Given the description of an element on the screen output the (x, y) to click on. 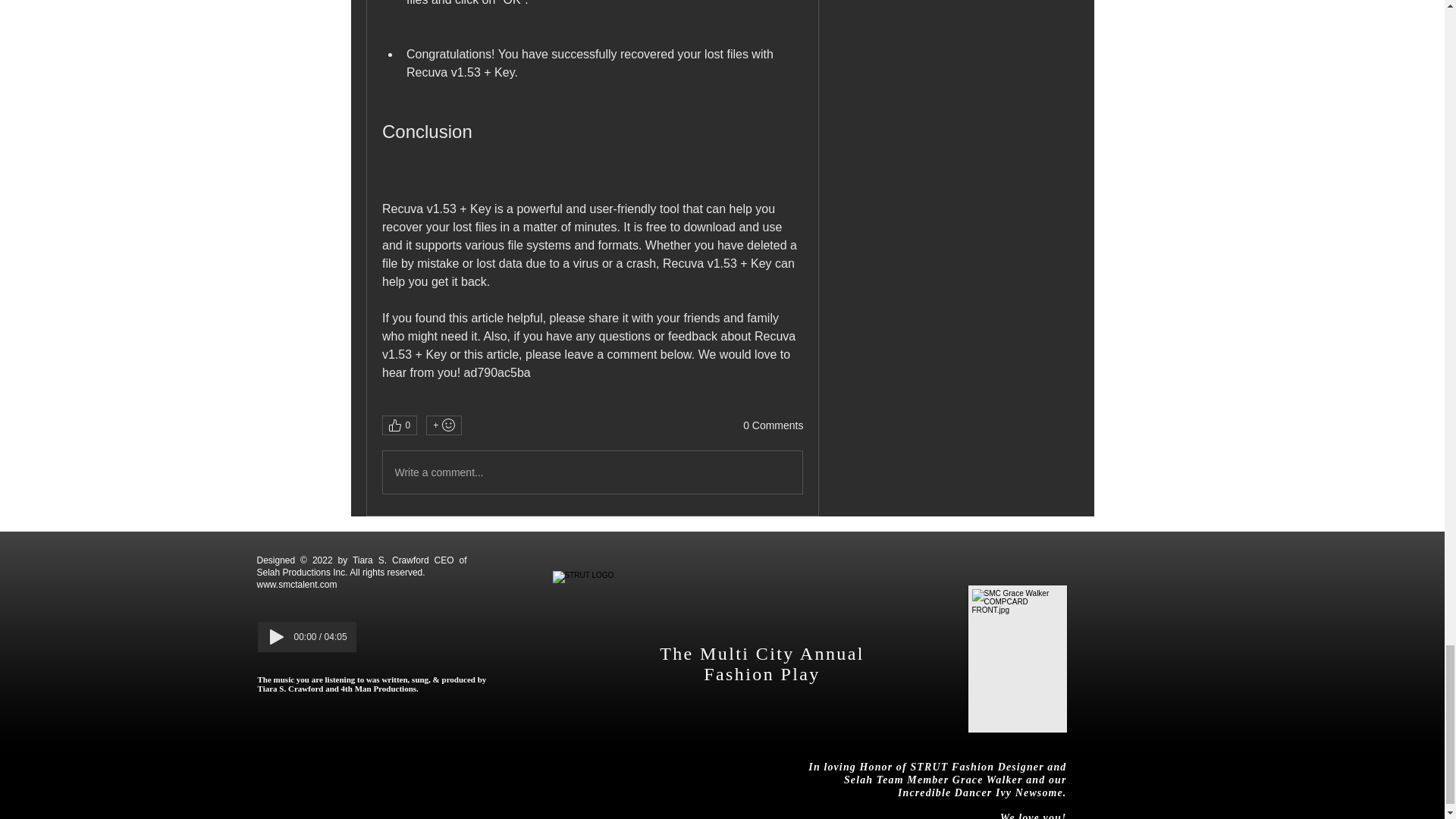
0 Comments (772, 426)
www.smctalent.com (296, 584)
Write a comment... (591, 472)
